Given the description of an element on the screen output the (x, y) to click on. 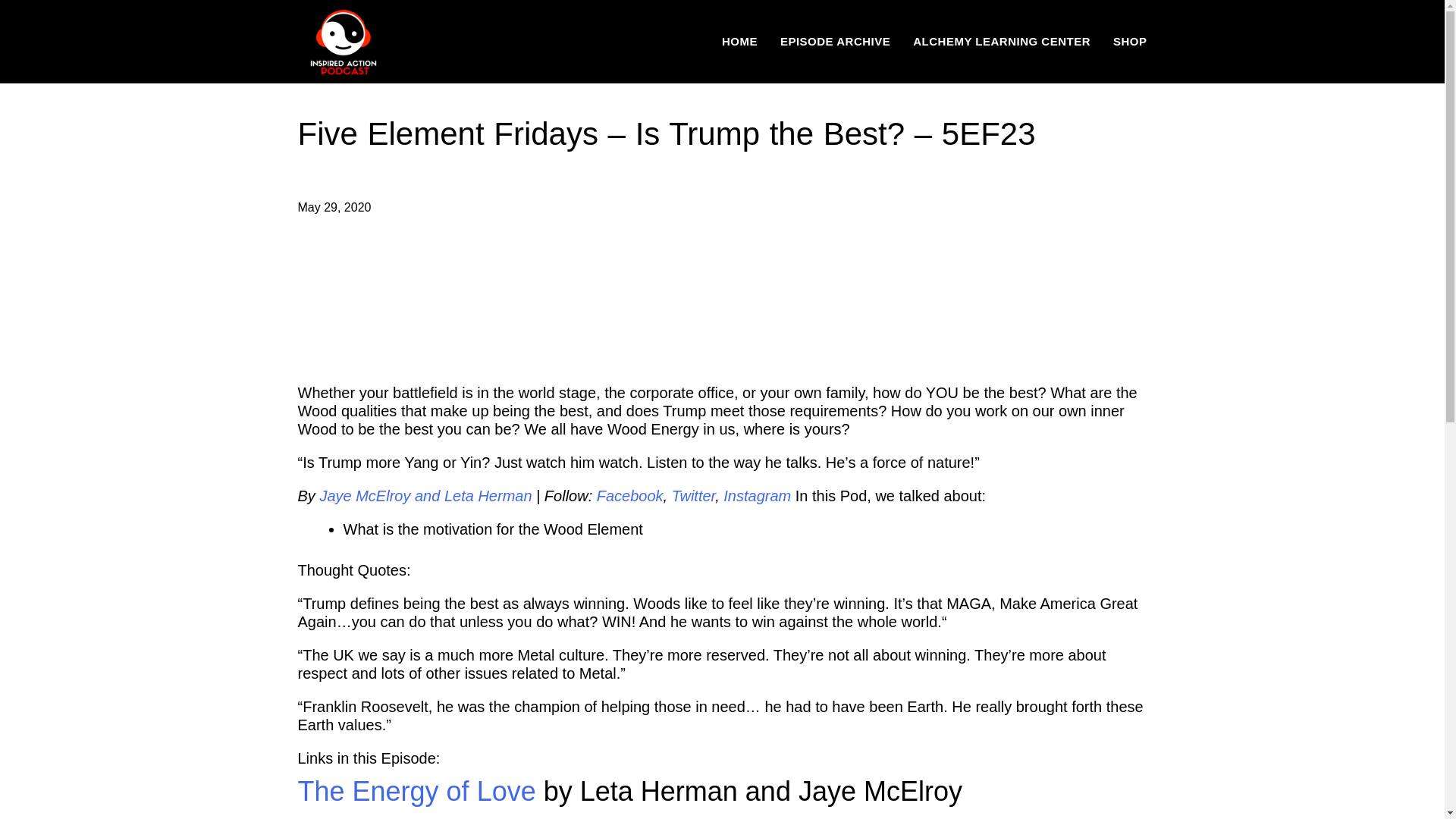
ALCHEMY LEARNING CENTER (1001, 41)
HOME (739, 41)
SHOP (1130, 41)
Twitter (692, 495)
The Energy of Love (416, 790)
Instagram (756, 495)
EPISODE ARCHIVE (834, 41)
Jaye McElroy and Leta Herman (424, 495)
Facebook (629, 495)
